Given the description of an element on the screen output the (x, y) to click on. 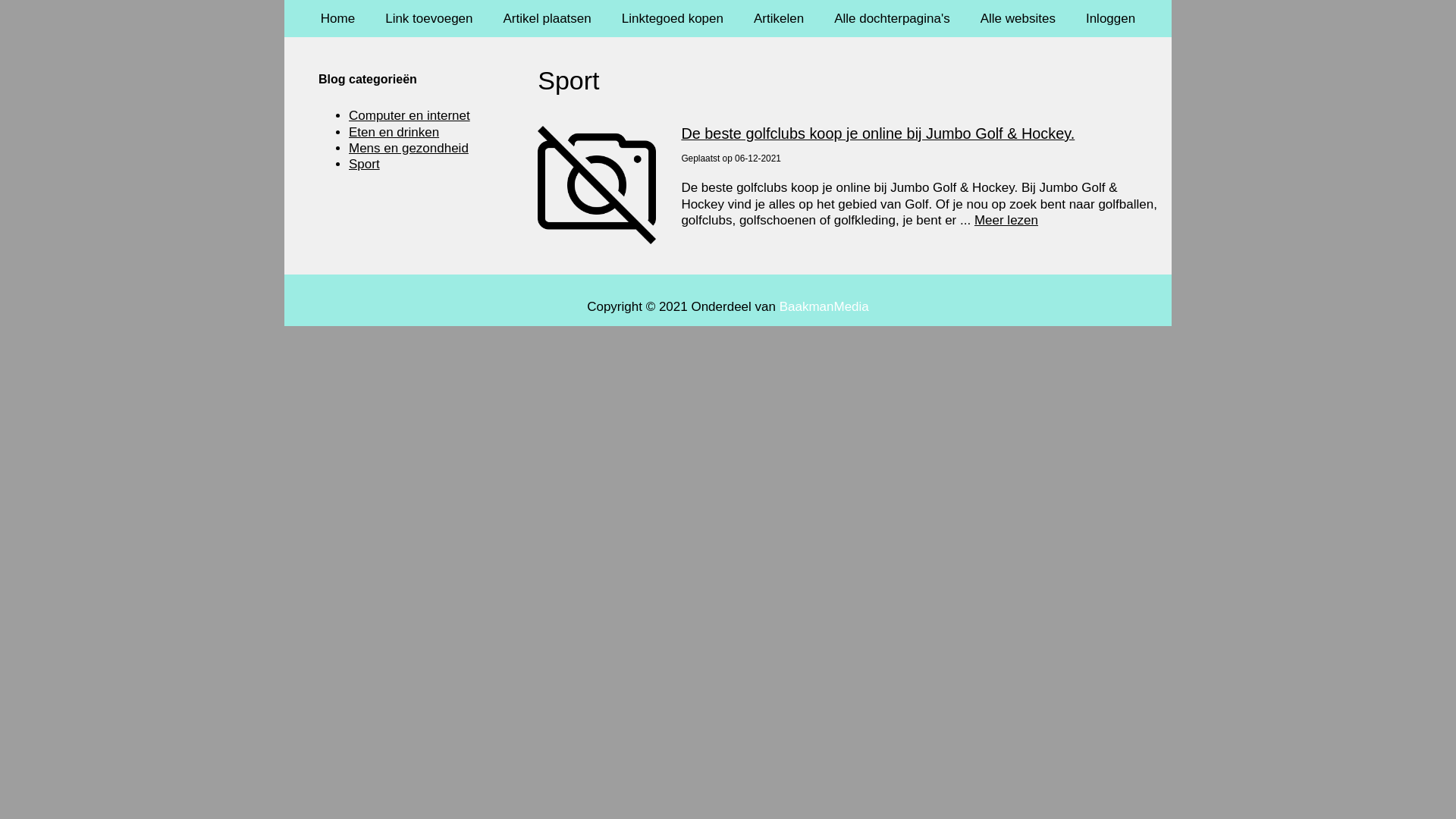
Computer en internet Element type: text (409, 115)
Sport Element type: text (363, 163)
Home Element type: text (337, 18)
Mens en gezondheid Element type: text (408, 148)
Alle websites Element type: text (1017, 18)
Inloggen Element type: text (1110, 18)
Artikelen Element type: text (778, 18)
De beste golfclubs koop je online bij Jumbo Golf & Hockey. Element type: hover (596, 184)
Linktegoed kopen Element type: text (672, 18)
De beste golfclubs koop je online bij Jumbo Golf & Hockey. Element type: text (877, 133)
Alle dochterpagina's Element type: text (892, 18)
Meer lezen Element type: text (1006, 220)
BaakmanMedia Element type: text (824, 306)
Link toevoegen Element type: text (428, 18)
Eten en drinken Element type: text (393, 131)
Artikel plaatsen Element type: text (547, 18)
